Given the description of an element on the screen output the (x, y) to click on. 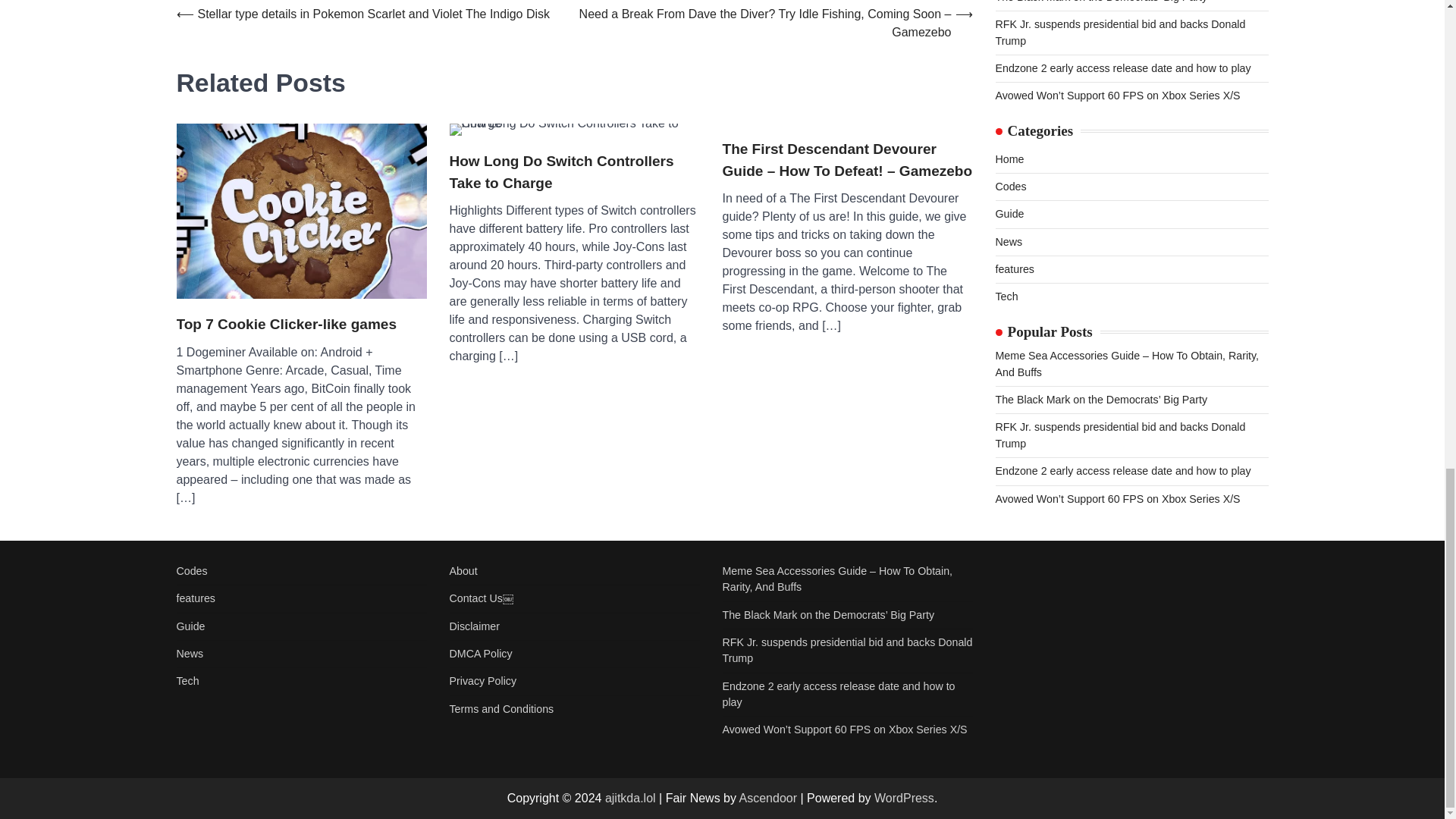
Codes (191, 571)
Top 7 Cookie Clicker-like games (286, 324)
features (195, 598)
How Long Do Switch Controllers Take to Charge (573, 129)
Guide (190, 625)
How Long Do Switch Controllers Take to Charge (573, 172)
Top 7 Cookie Clicker-like games (301, 210)
